Given the description of an element on the screen output the (x, y) to click on. 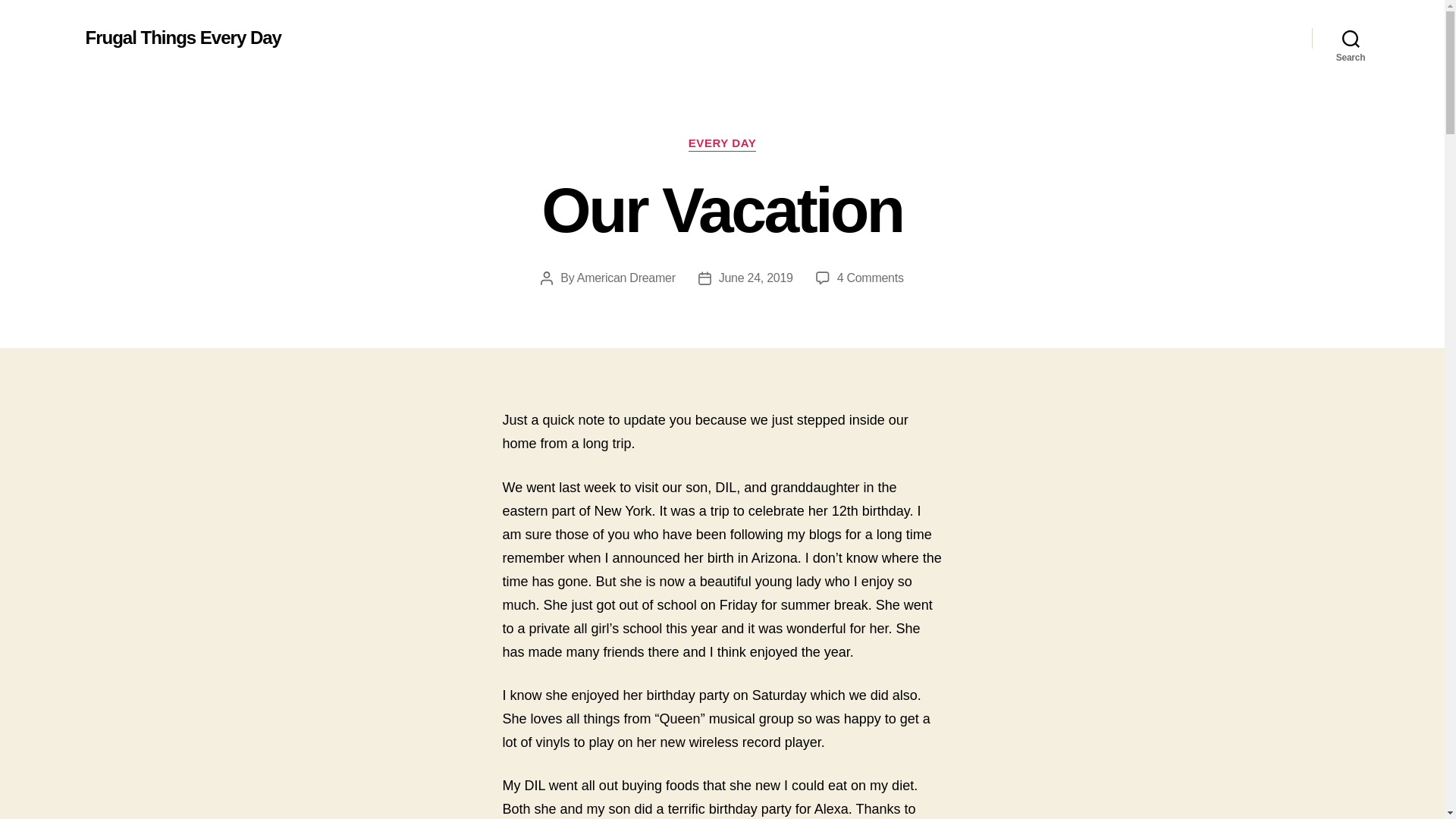
American Dreamer (625, 277)
Frugal Things Every Day (870, 277)
June 24, 2019 (182, 37)
EVERY DAY (756, 277)
Search (721, 143)
